Given the description of an element on the screen output the (x, y) to click on. 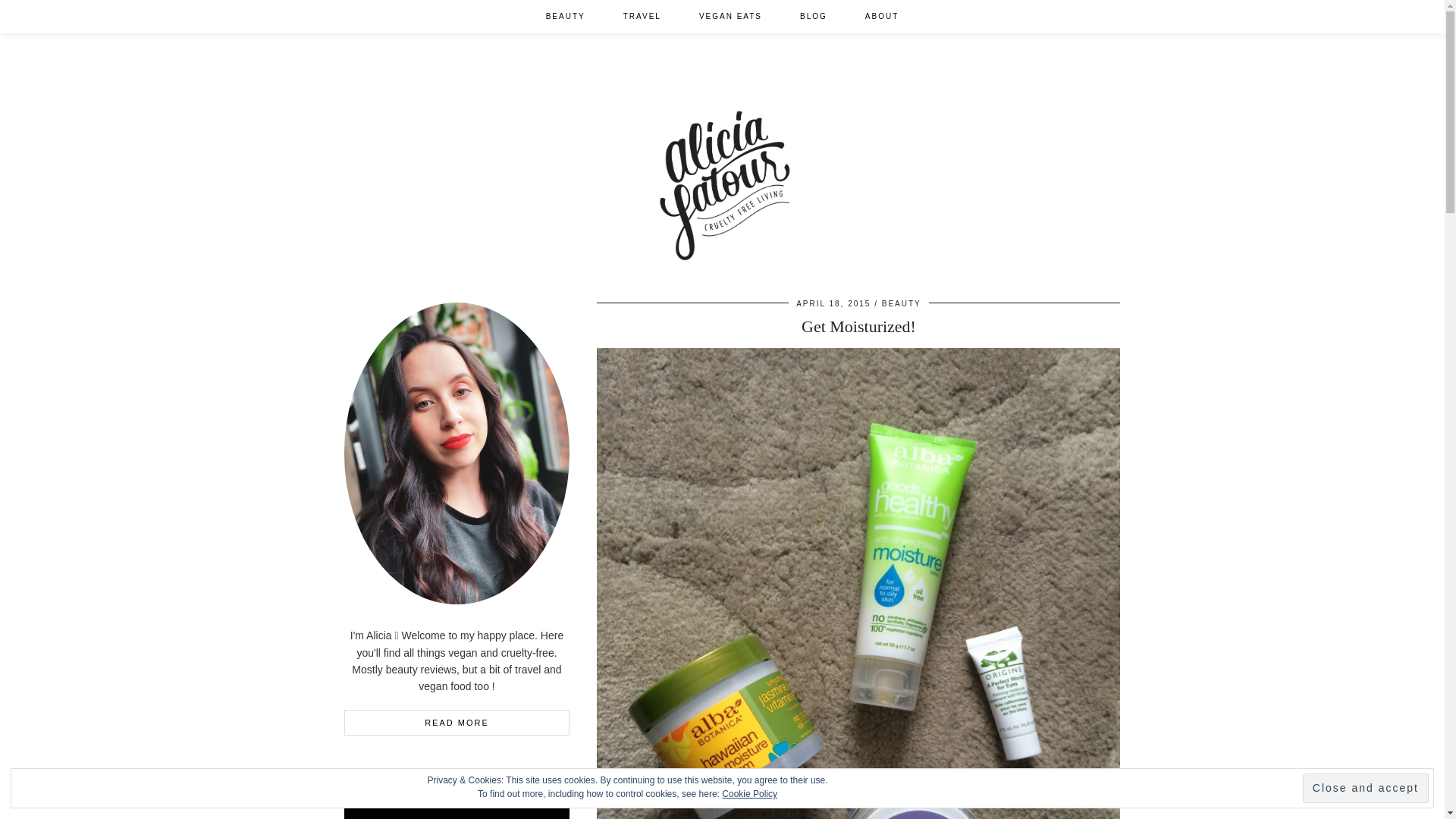
Close and accept (1365, 788)
BEAUTY (565, 16)
BLOG (812, 16)
VEGAN EATS (729, 16)
BEAUTY (901, 303)
ABOUT (881, 16)
TRAVEL (641, 16)
